Given the description of an element on the screen output the (x, y) to click on. 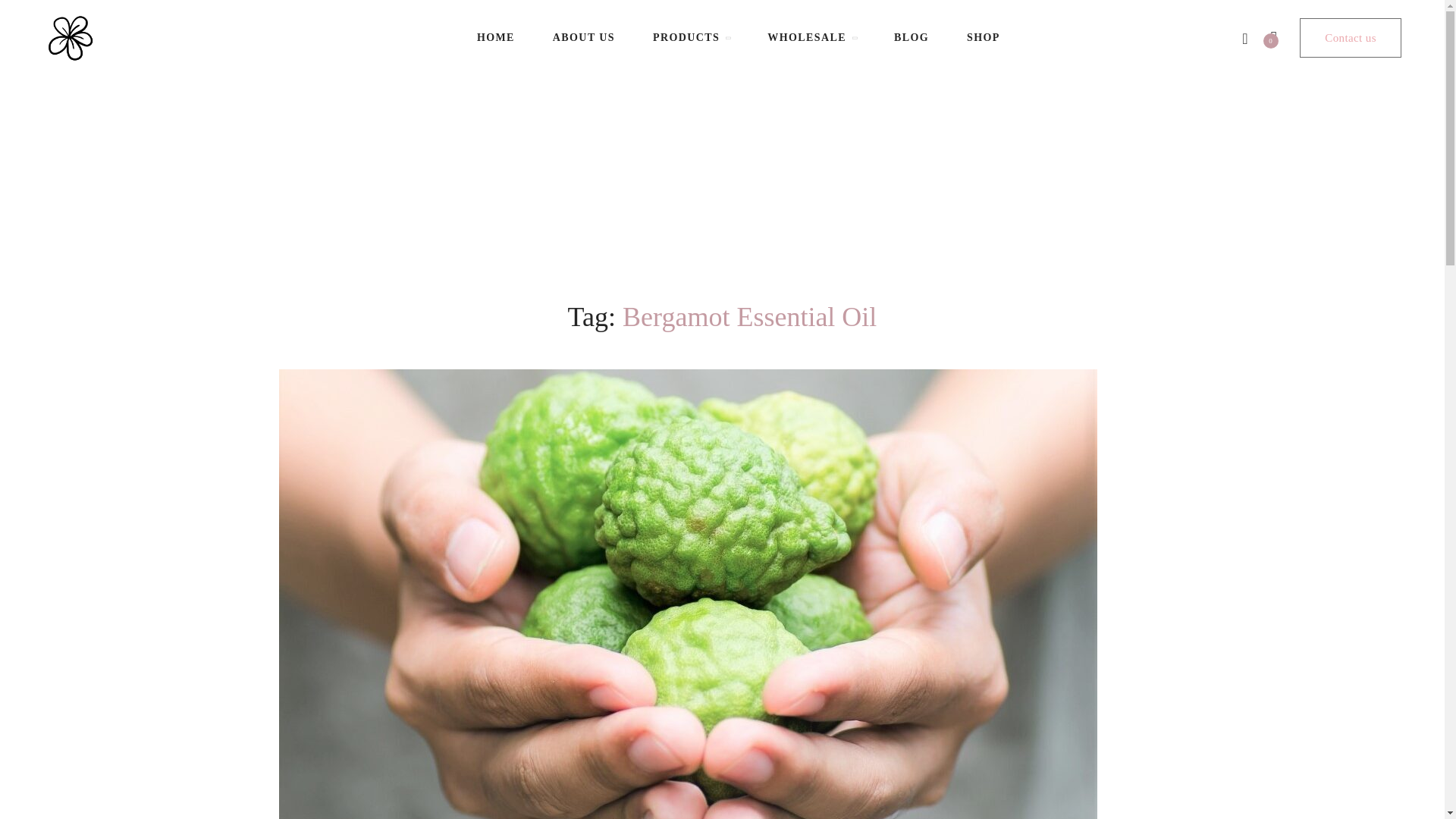
WHOLESALE (811, 38)
BLOG (911, 38)
SHOP (983, 38)
ABOUT US (583, 38)
PRODUCTS (690, 38)
HOME (496, 38)
Contact us (1350, 37)
